Given the description of an element on the screen output the (x, y) to click on. 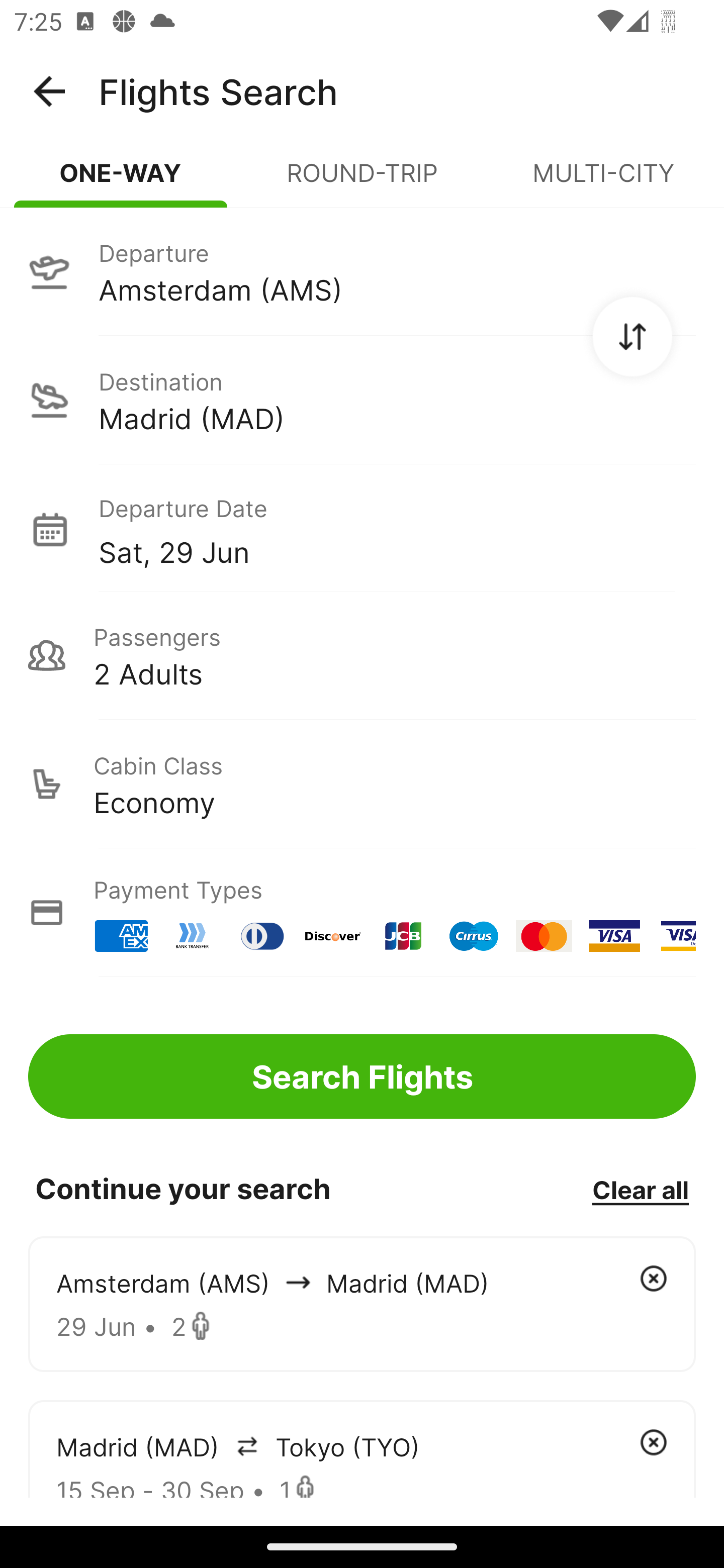
ONE-WAY (120, 180)
ROUND-TRIP (361, 180)
MULTI-CITY (603, 180)
Departure Amsterdam (AMS) (362, 270)
Destination Madrid (MAD) (362, 400)
Departure Date Sat, 29 Jun (396, 528)
Passengers 2 Adults (362, 655)
Cabin Class Economy (362, 783)
Payment Types (362, 912)
Search Flights (361, 1075)
Clear all (640, 1189)
